Given the description of an element on the screen output the (x, y) to click on. 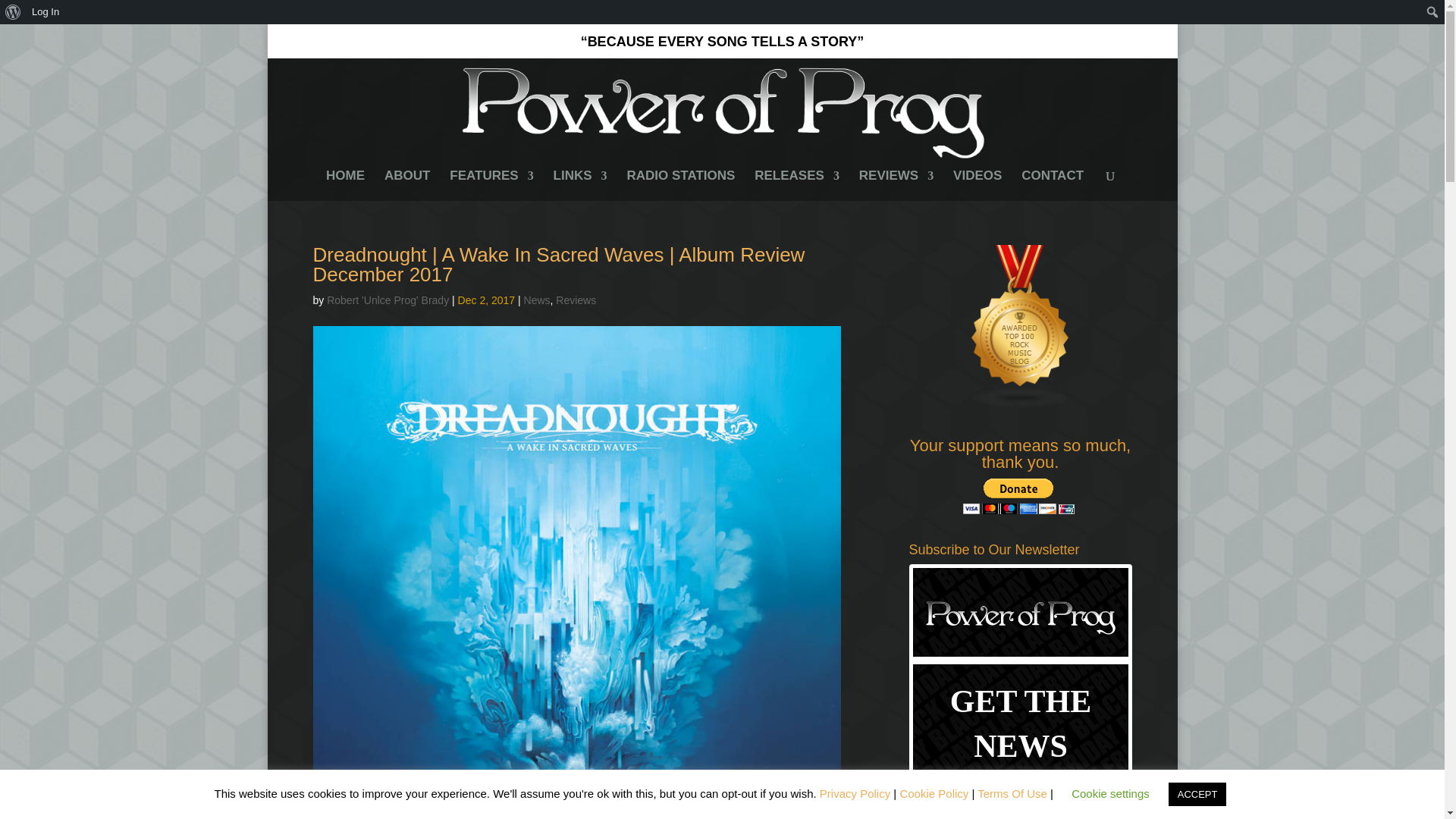
HOME (345, 185)
Posts by Robert 'Unlce Prog' Brady (387, 300)
RADIO STATIONS (680, 185)
Log In (45, 12)
LINKS (580, 185)
REVIEWS (896, 185)
CONTACT (1052, 185)
Rock Music blogs (1020, 404)
VIDEOS (977, 185)
FEATURES (490, 185)
ABOUT (406, 185)
RELEASES (797, 185)
Search (16, 13)
